Given the description of an element on the screen output the (x, y) to click on. 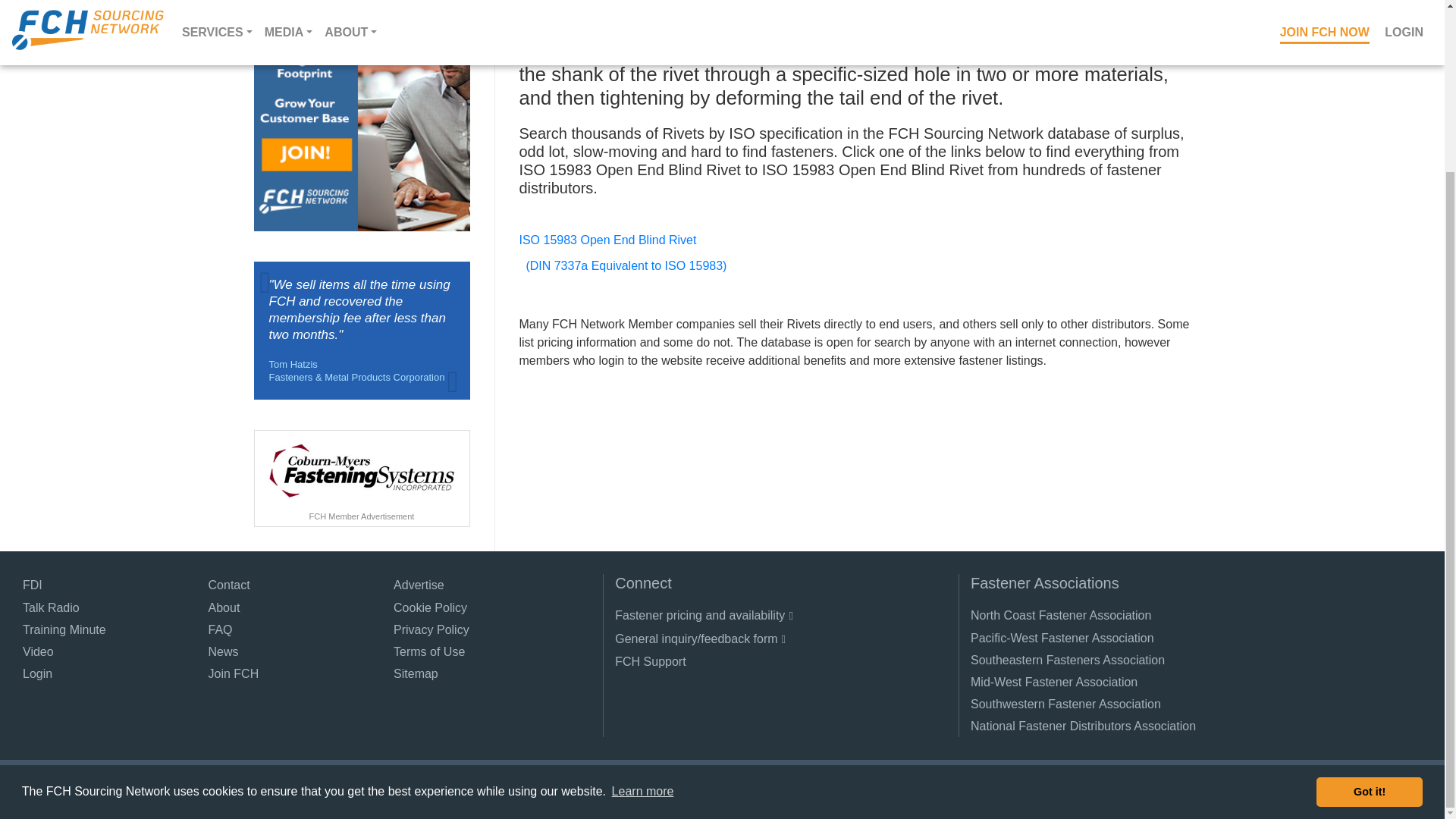
Talk Radio (51, 608)
Video (38, 651)
FDI (32, 585)
Training Minute (64, 629)
Learn more (641, 584)
Got it! (1369, 584)
ISO 15983 Open End Blind Rivet (606, 240)
